Given the description of an element on the screen output the (x, y) to click on. 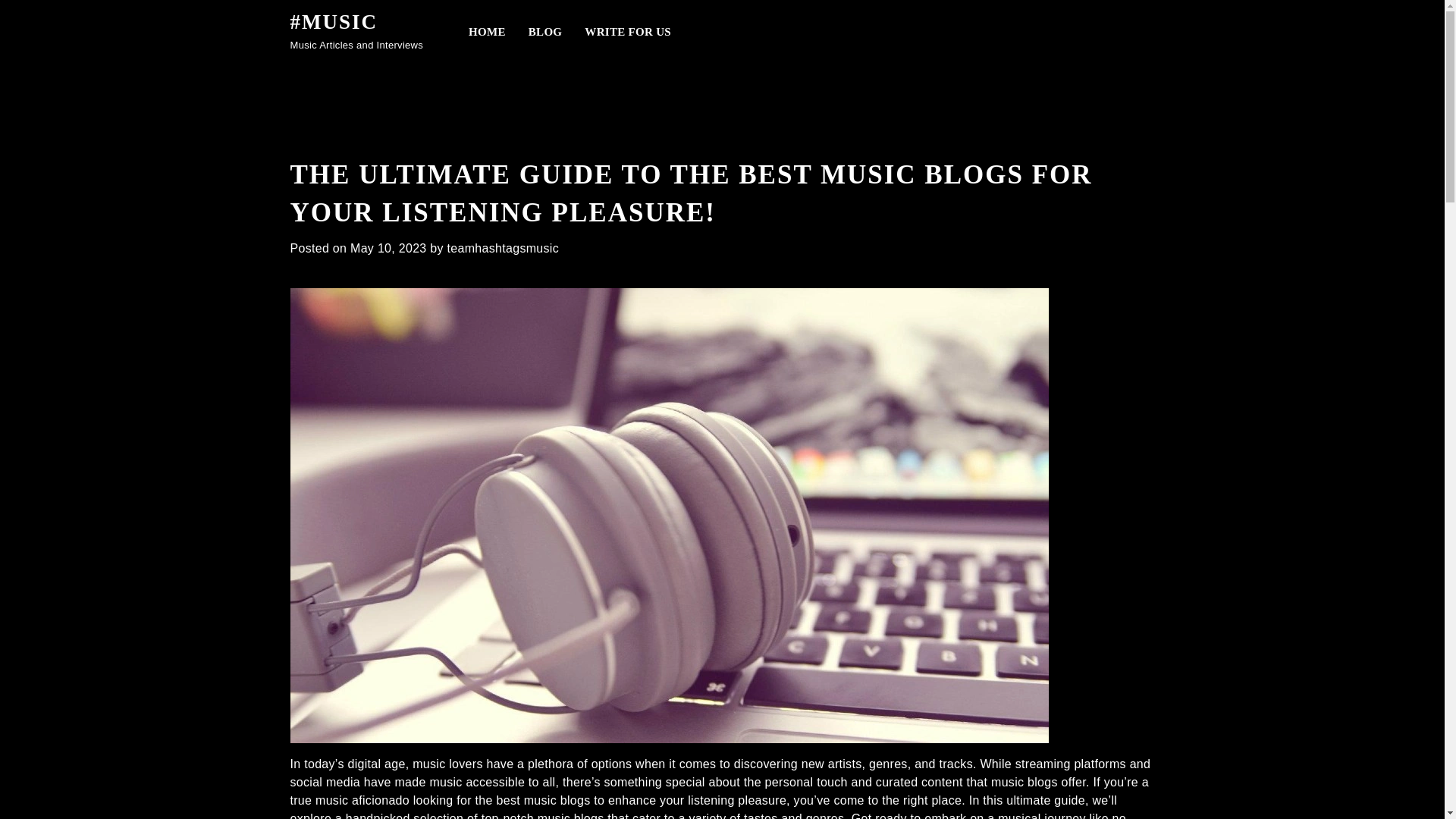
WRITE FOR US (627, 29)
Blog (544, 29)
HOME (486, 29)
May 10, 2023 (388, 247)
Home (486, 29)
Write For Us (627, 29)
teamhashtagsmusic (502, 247)
BLOG (544, 29)
